Given the description of an element on the screen output the (x, y) to click on. 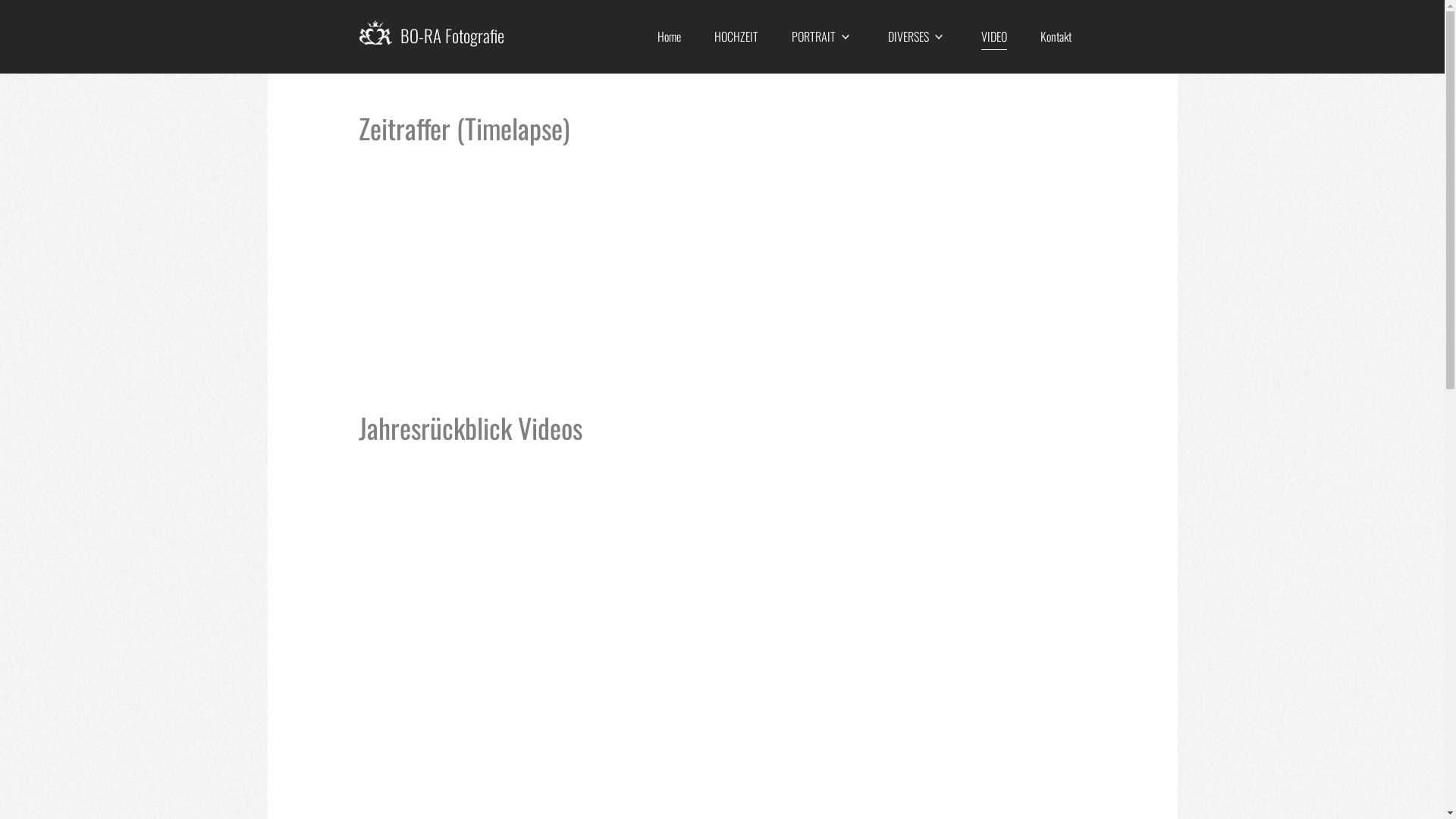
BO-RA Fotografie Element type: text (452, 35)
Home Element type: text (668, 36)
Kontakt Element type: text (1055, 36)
VIDEO Element type: text (994, 36)
HOCHZEIT Element type: text (736, 36)
